Given the description of an element on the screen output the (x, y) to click on. 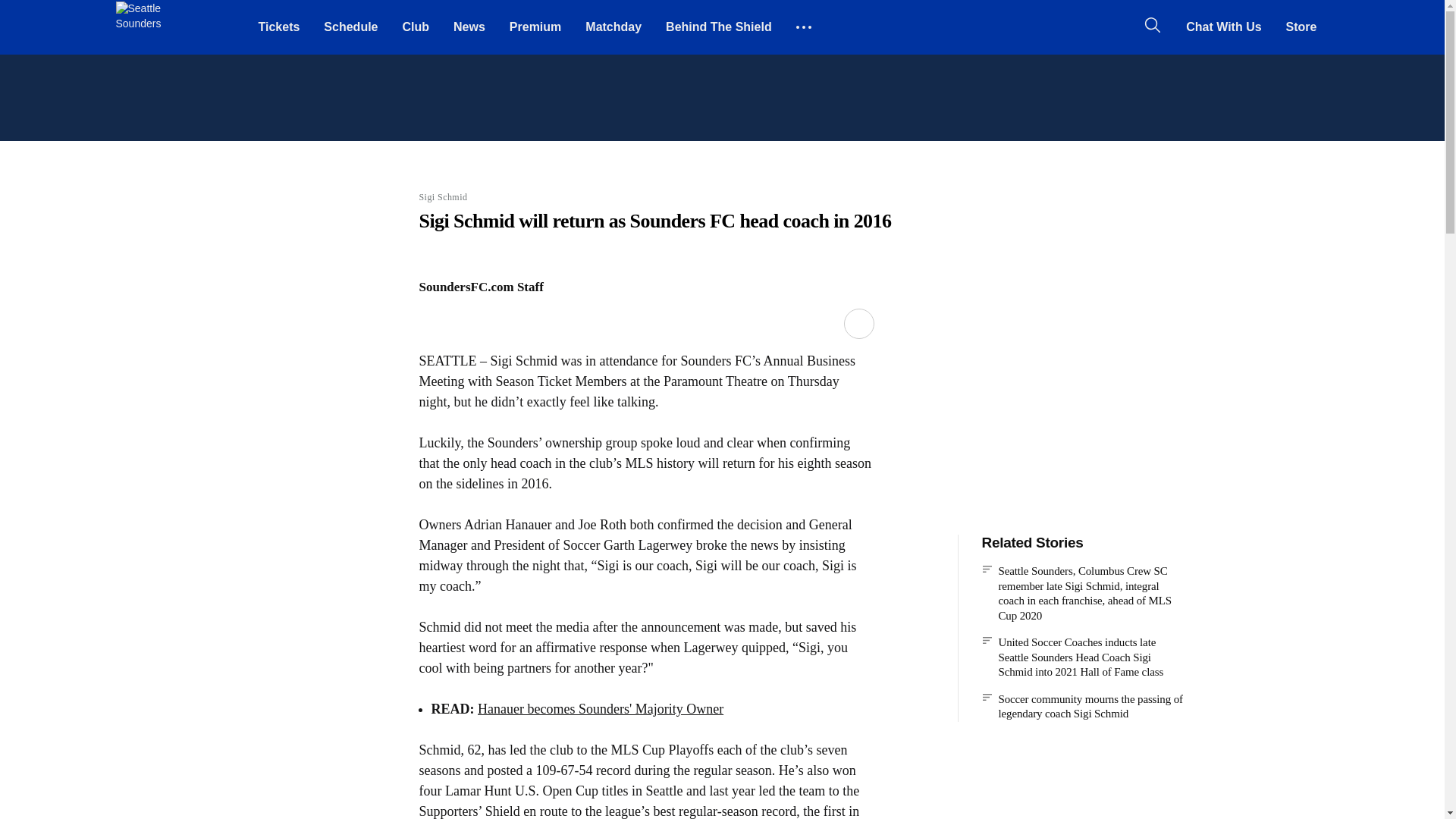
Premium (535, 26)
Matchday (613, 26)
Seattle Sounders (141, 27)
Behind The Shield (718, 26)
Chat With Us (1222, 26)
Tickets (278, 26)
News (469, 26)
Club (415, 26)
Schedule (350, 26)
Store (1301, 26)
